Given the description of an element on the screen output the (x, y) to click on. 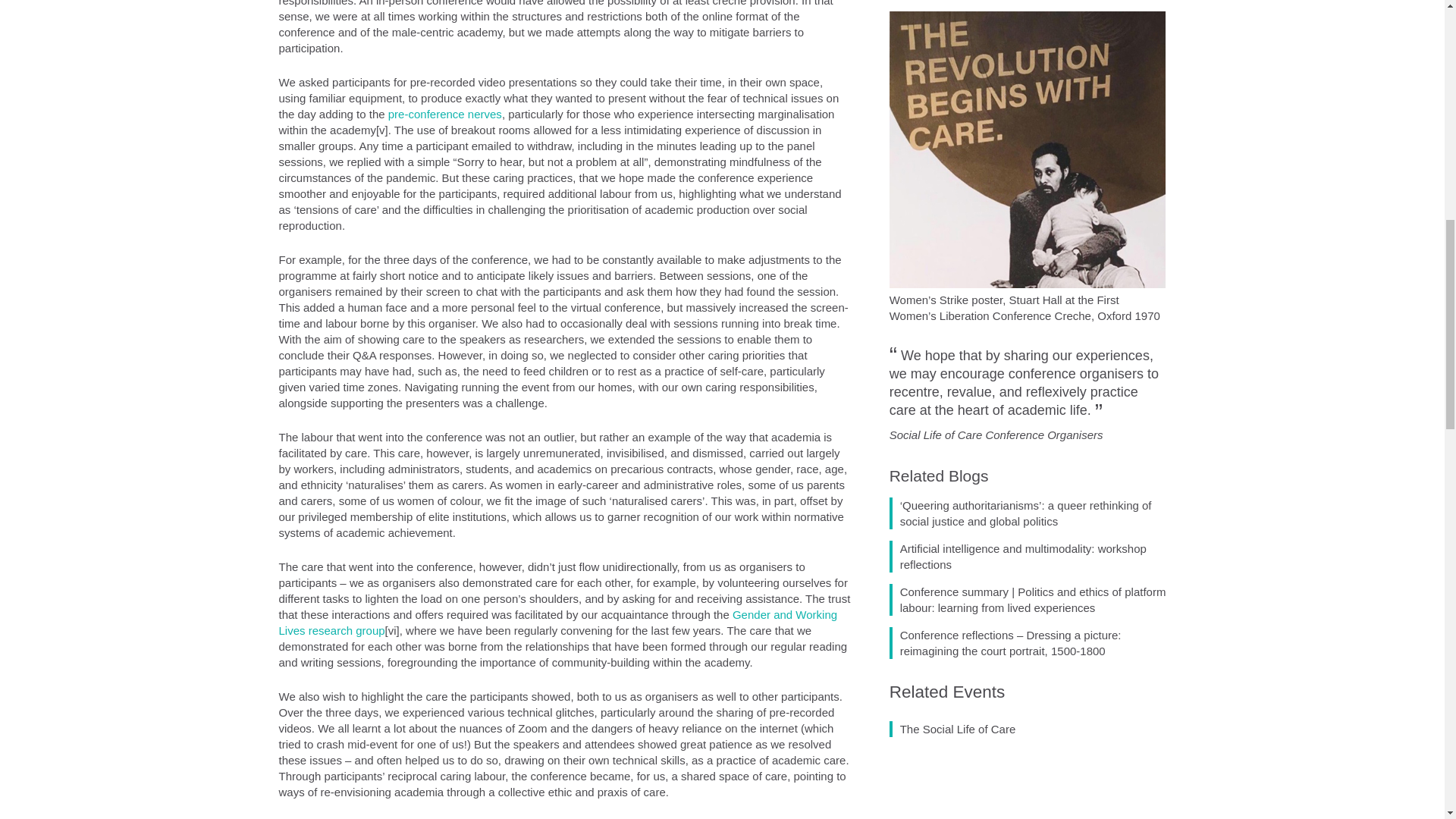
pre-conference nerves (445, 113)
Gender and Working Lives research group (558, 622)
The Social Life of Care (952, 206)
